Given the description of an element on the screen output the (x, y) to click on. 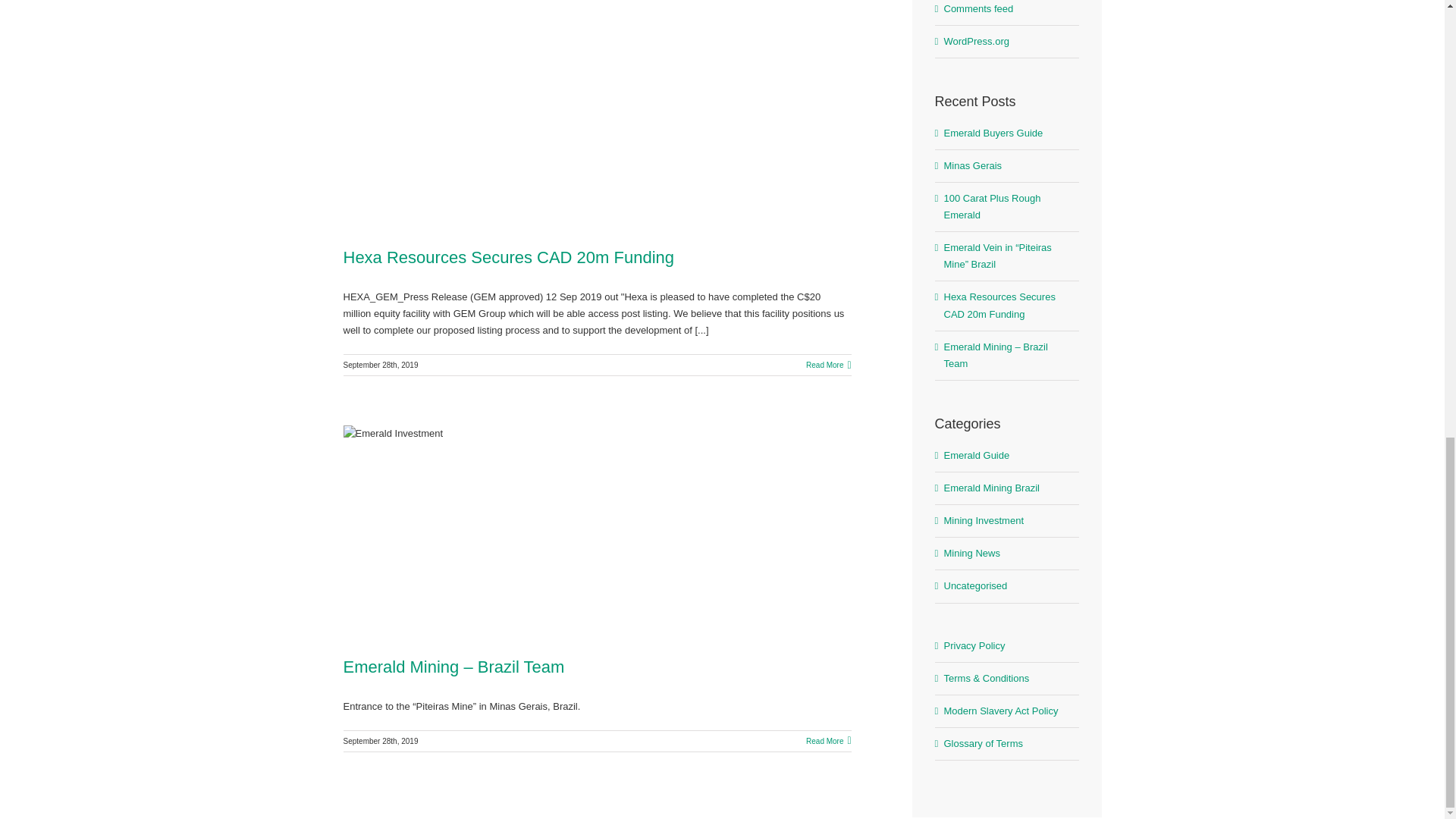
Read More (824, 364)
Hexa Resources Secures CAD 20m Funding (508, 257)
